Given the description of an element on the screen output the (x, y) to click on. 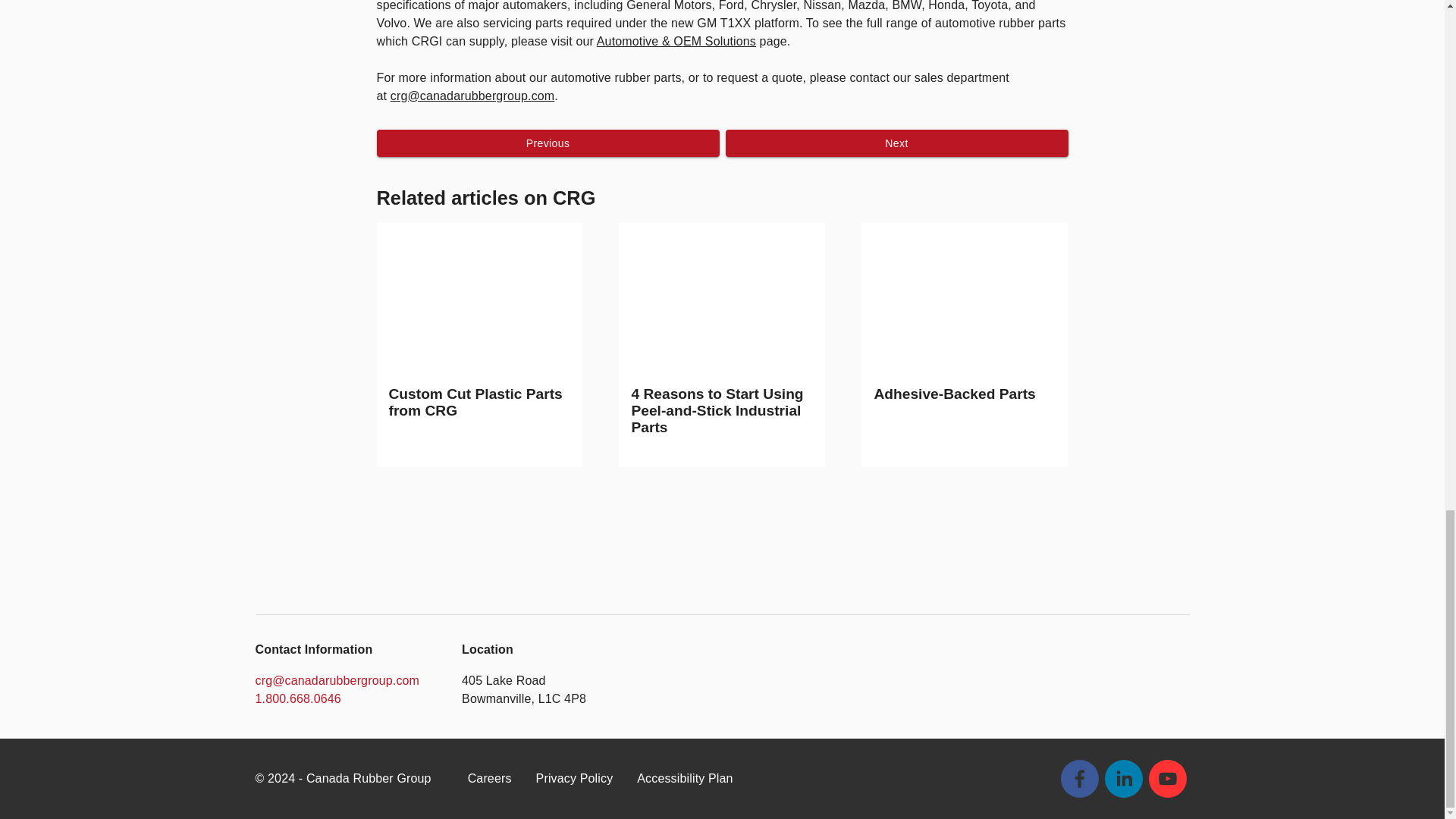
Accessibility Plan (684, 778)
Next (896, 143)
1.800.668.0646 (297, 698)
Previous (547, 143)
Privacy Policy (573, 778)
Careers (489, 778)
